Given the description of an element on the screen output the (x, y) to click on. 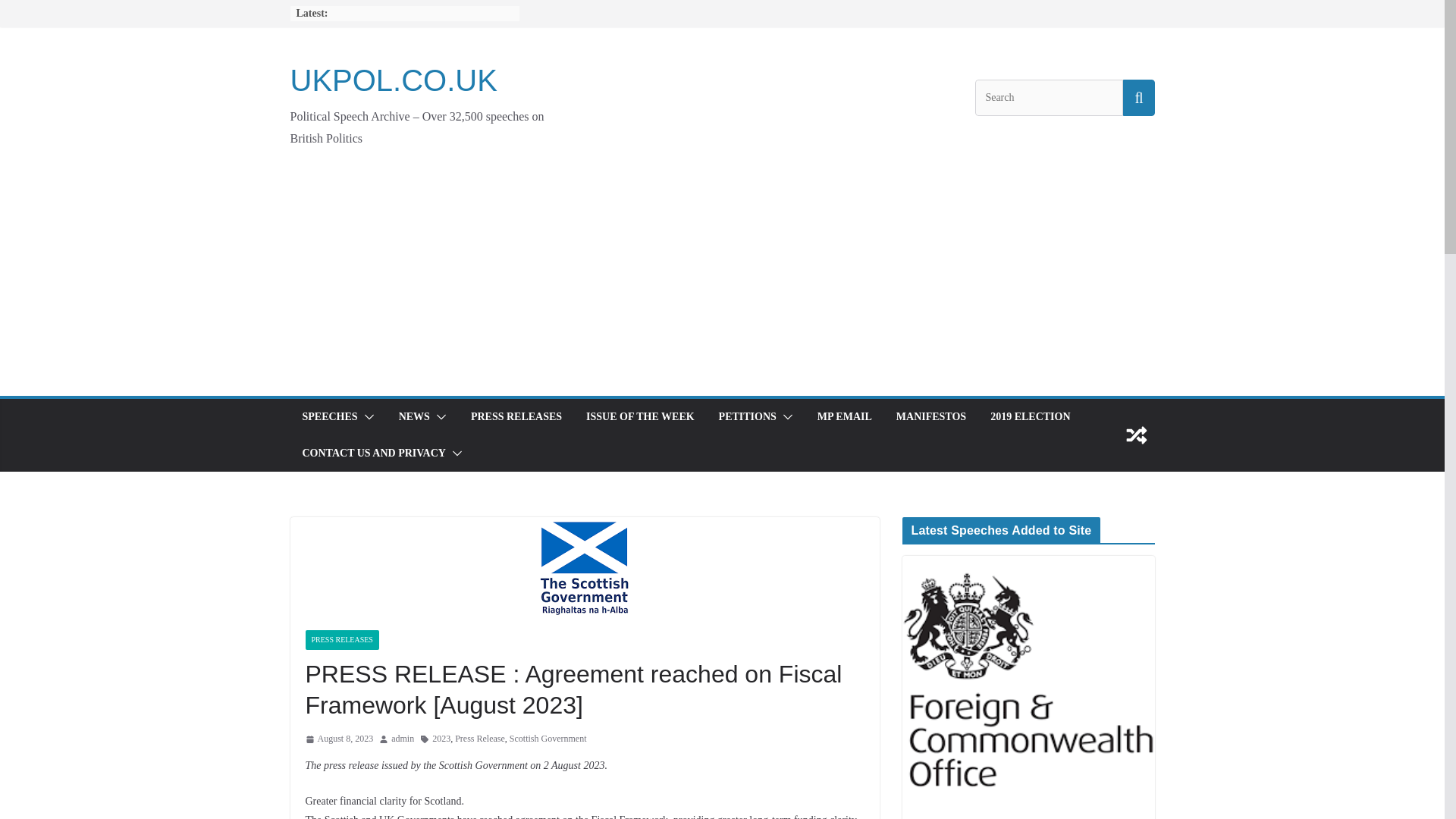
UKPOL.CO.UK (392, 80)
admin (402, 739)
SPEECHES (328, 416)
2023 (440, 739)
PRESS RELEASES (516, 416)
PRESS RELEASES (341, 639)
2019 ELECTION (1030, 416)
View a random post (1136, 434)
8:54 am (338, 739)
MP EMAIL (844, 416)
